Given the description of an element on the screen output the (x, y) to click on. 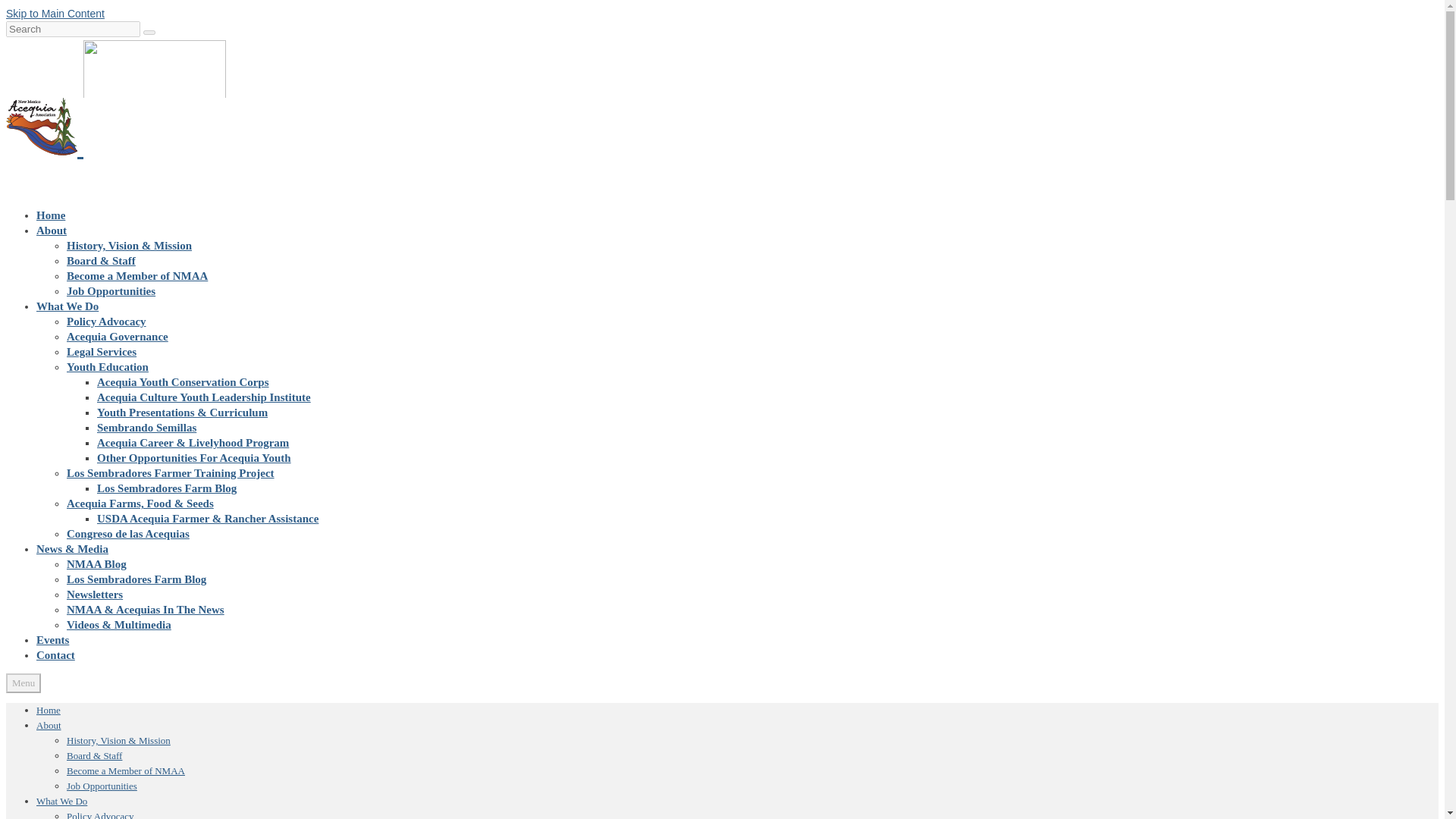
Legal Services (101, 351)
Youth Education (107, 367)
Los Sembradores Farm Blog (136, 579)
About (48, 725)
NMAA Blog (96, 563)
Acequia Governance (117, 336)
Job Opportunities (110, 291)
Job Opportunities (101, 785)
Contact (55, 654)
Congreso de las Acequias (127, 533)
Skip to Main Content (54, 13)
Acequia Culture Youth Leadership Institute (204, 397)
Sembrando Semillas (146, 427)
Policy Advocacy (106, 321)
Menu (22, 682)
